Given the description of an element on the screen output the (x, y) to click on. 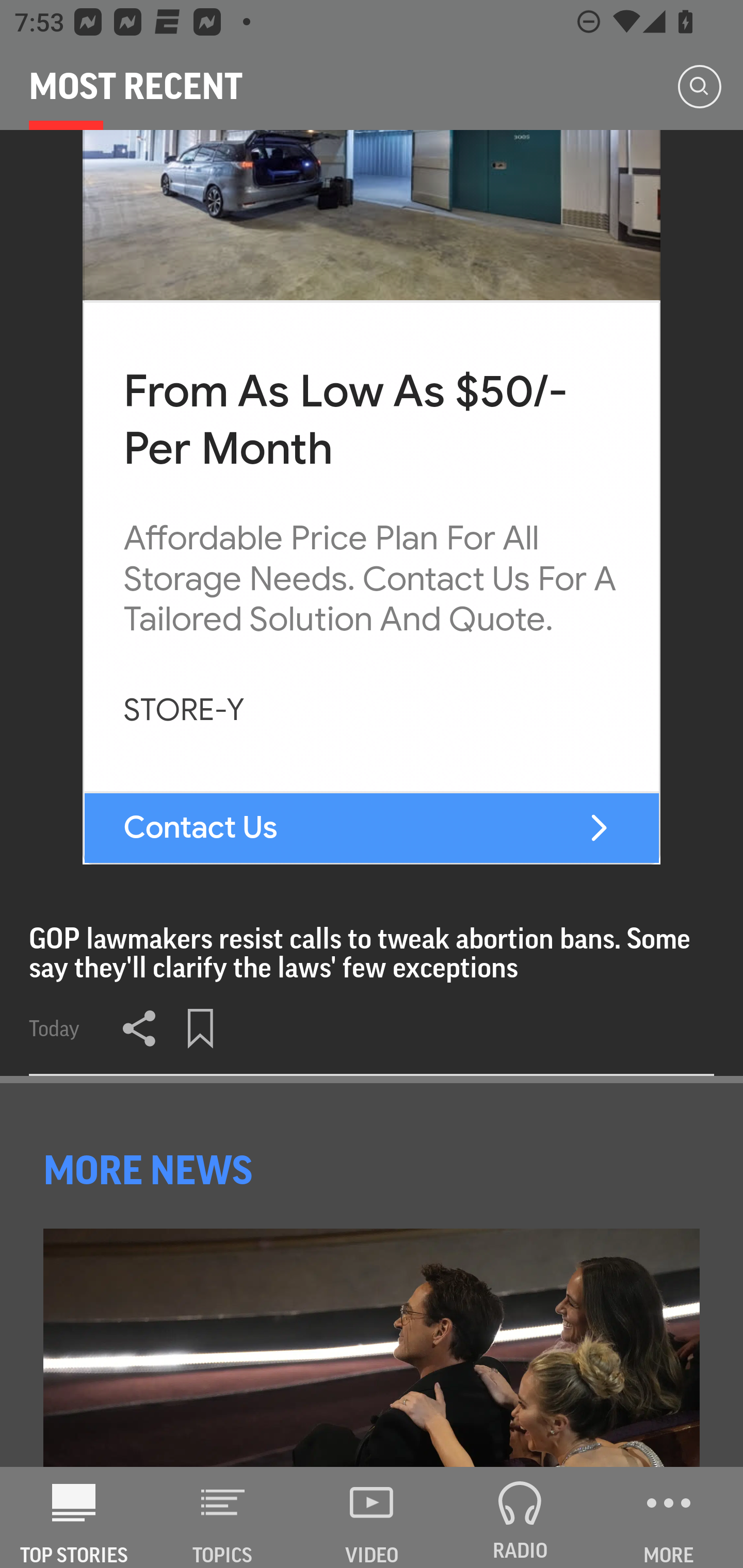
STORE-Y (183, 710)
Contact Us (200, 827)
MORE NEWS (151, 1170)
AP News TOP STORIES (74, 1517)
TOPICS (222, 1517)
VIDEO (371, 1517)
RADIO (519, 1517)
MORE (668, 1517)
